Given the description of an element on the screen output the (x, y) to click on. 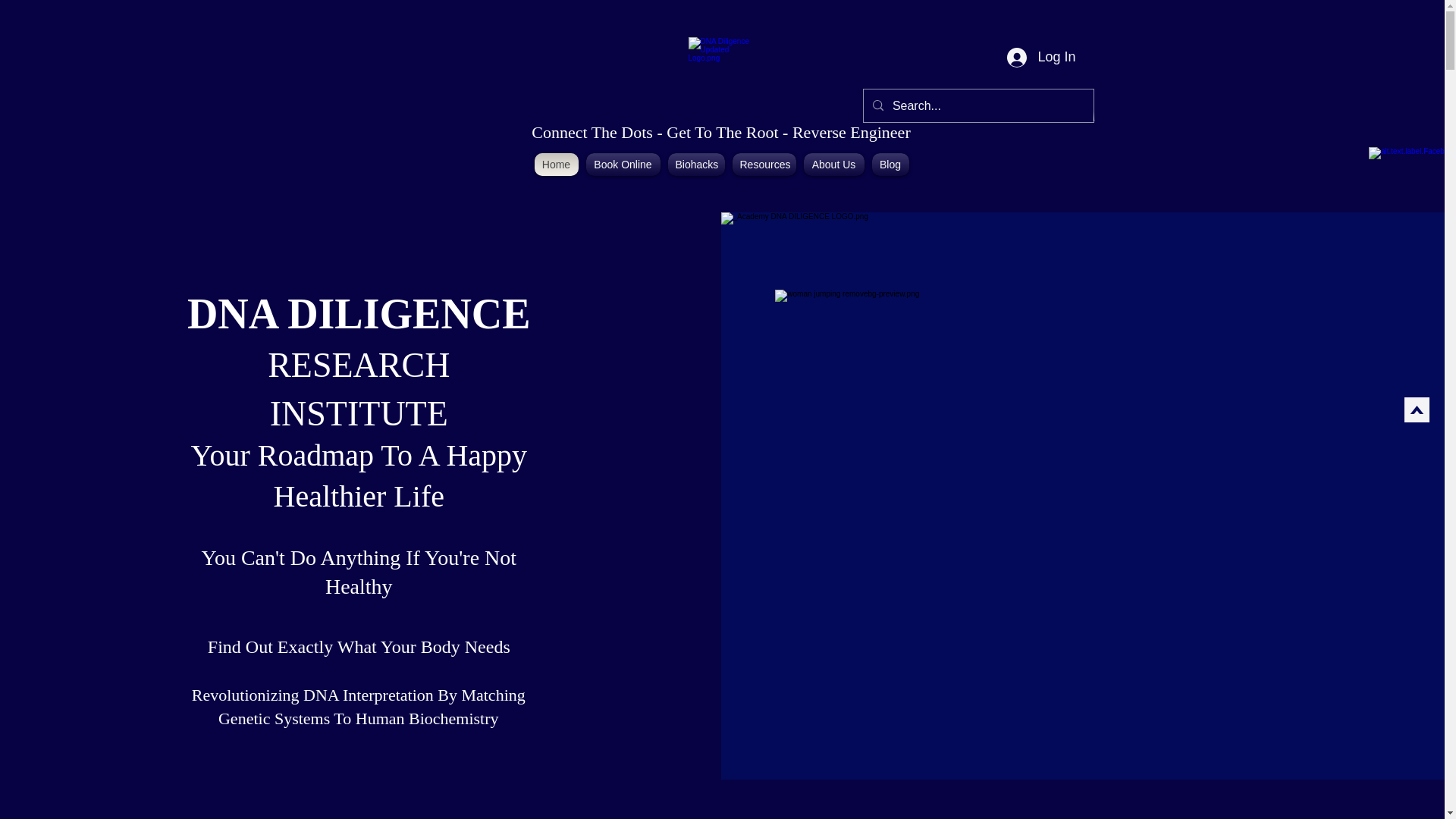
Blog (889, 164)
Book Online (622, 164)
Biohacks (696, 164)
Log In (1040, 57)
Resources (763, 164)
Home (556, 164)
About Us (833, 164)
